Given the description of an element on the screen output the (x, y) to click on. 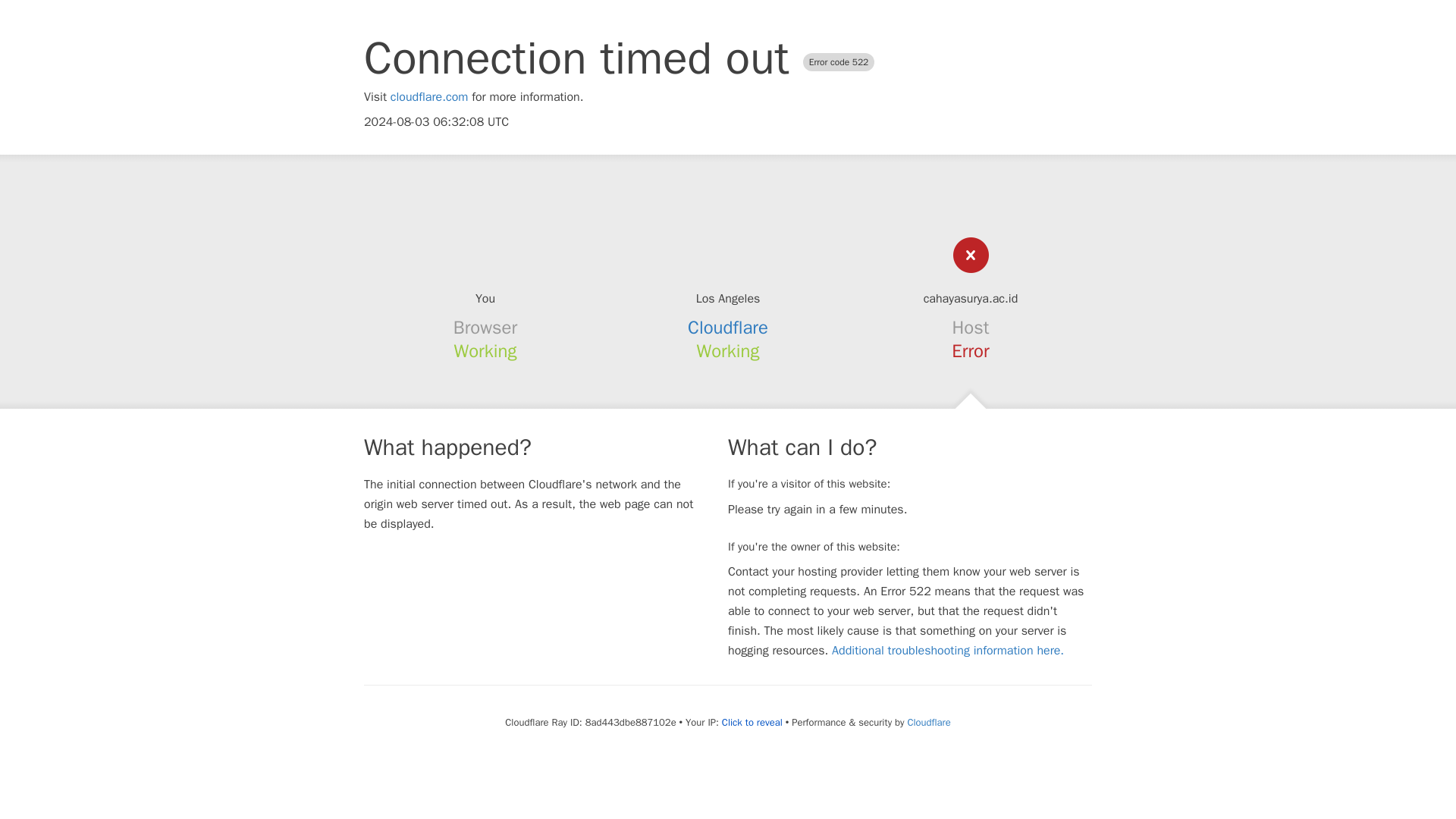
Cloudflare (727, 327)
cloudflare.com (429, 96)
Additional troubleshooting information here. (947, 650)
Cloudflare (928, 721)
Click to reveal (752, 722)
